Given the description of an element on the screen output the (x, y) to click on. 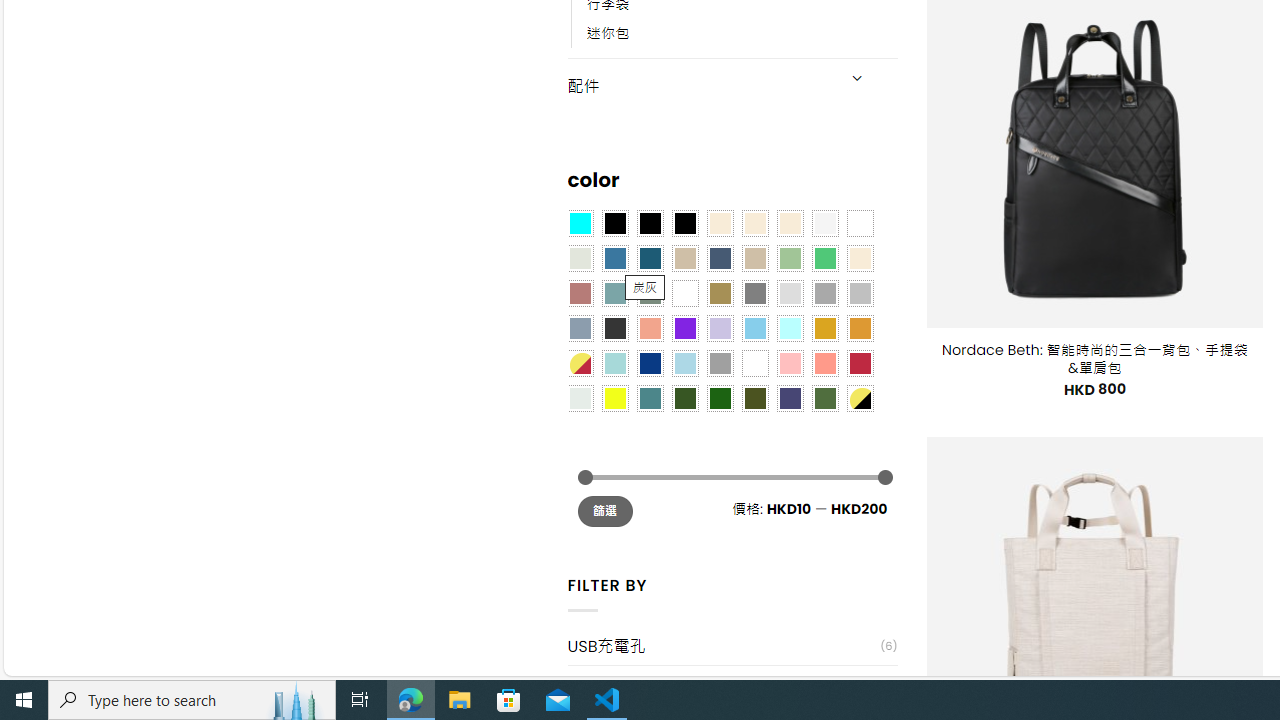
Dull Nickle (579, 398)
